Given the description of an element on the screen output the (x, y) to click on. 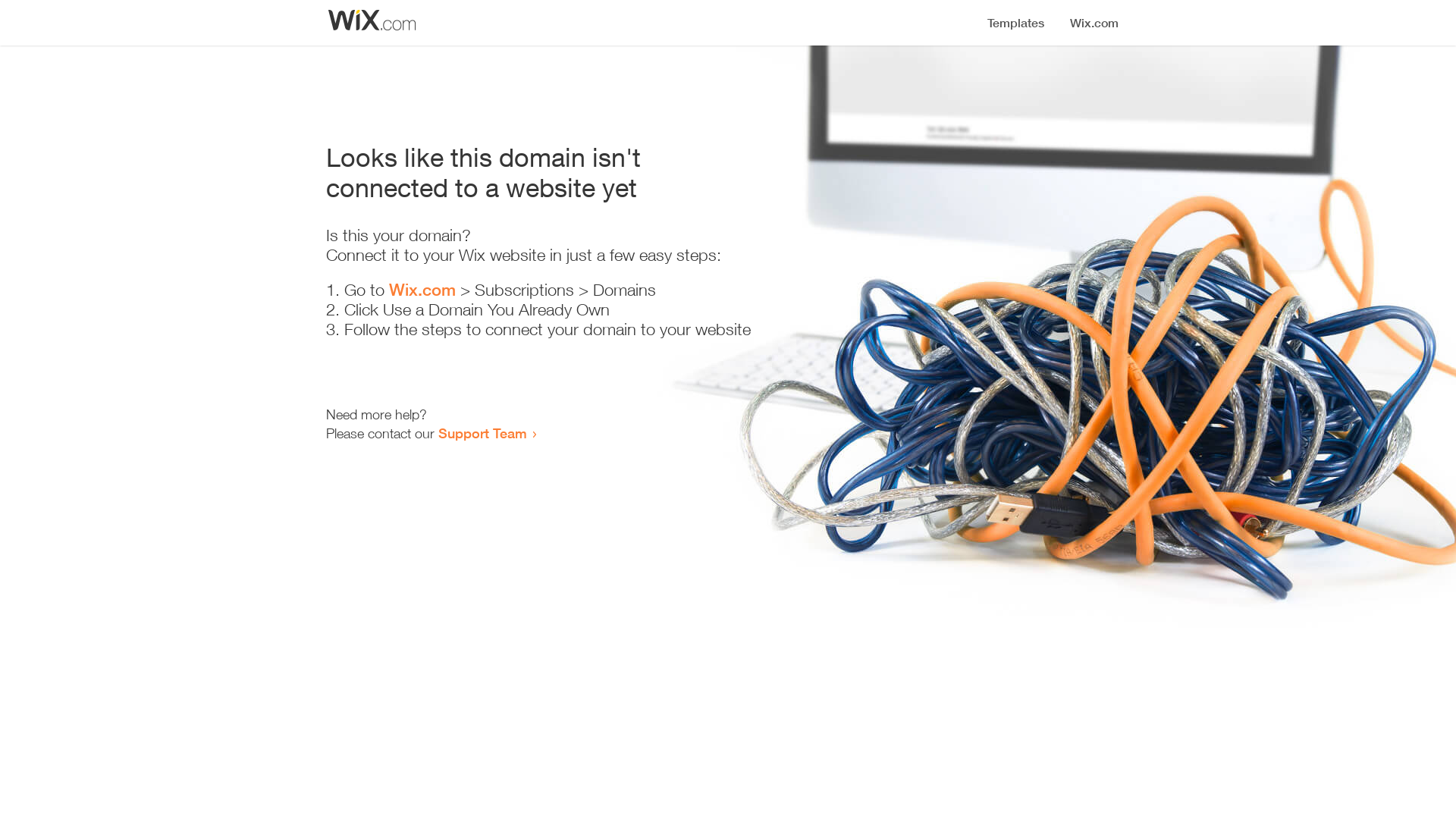
Wix.com Element type: text (422, 289)
Support Team Element type: text (482, 432)
